Given the description of an element on the screen output the (x, y) to click on. 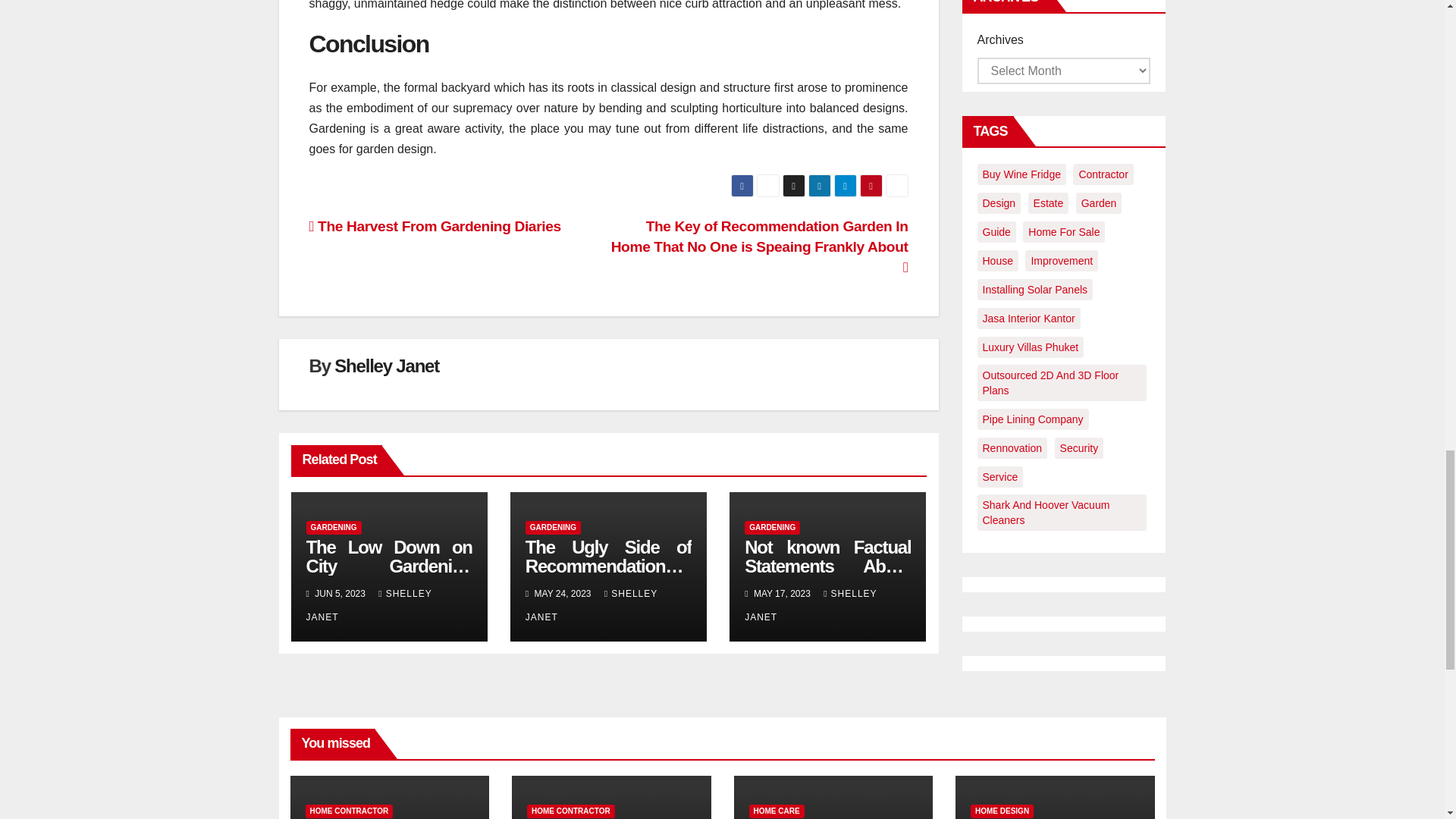
SHELLEY JANET (368, 605)
The Low Down on City Gardening Volunteer Revealed (388, 566)
Shelley Janet (386, 365)
GARDENING (333, 527)
The Ugly Side of Recommendation Garden In Home (608, 566)
The Harvest From Gardening Diaries (434, 226)
GARDENING (552, 527)
Permalink to: The Ugly Side of Recommendation Garden In Home (608, 566)
